Given the description of an element on the screen output the (x, y) to click on. 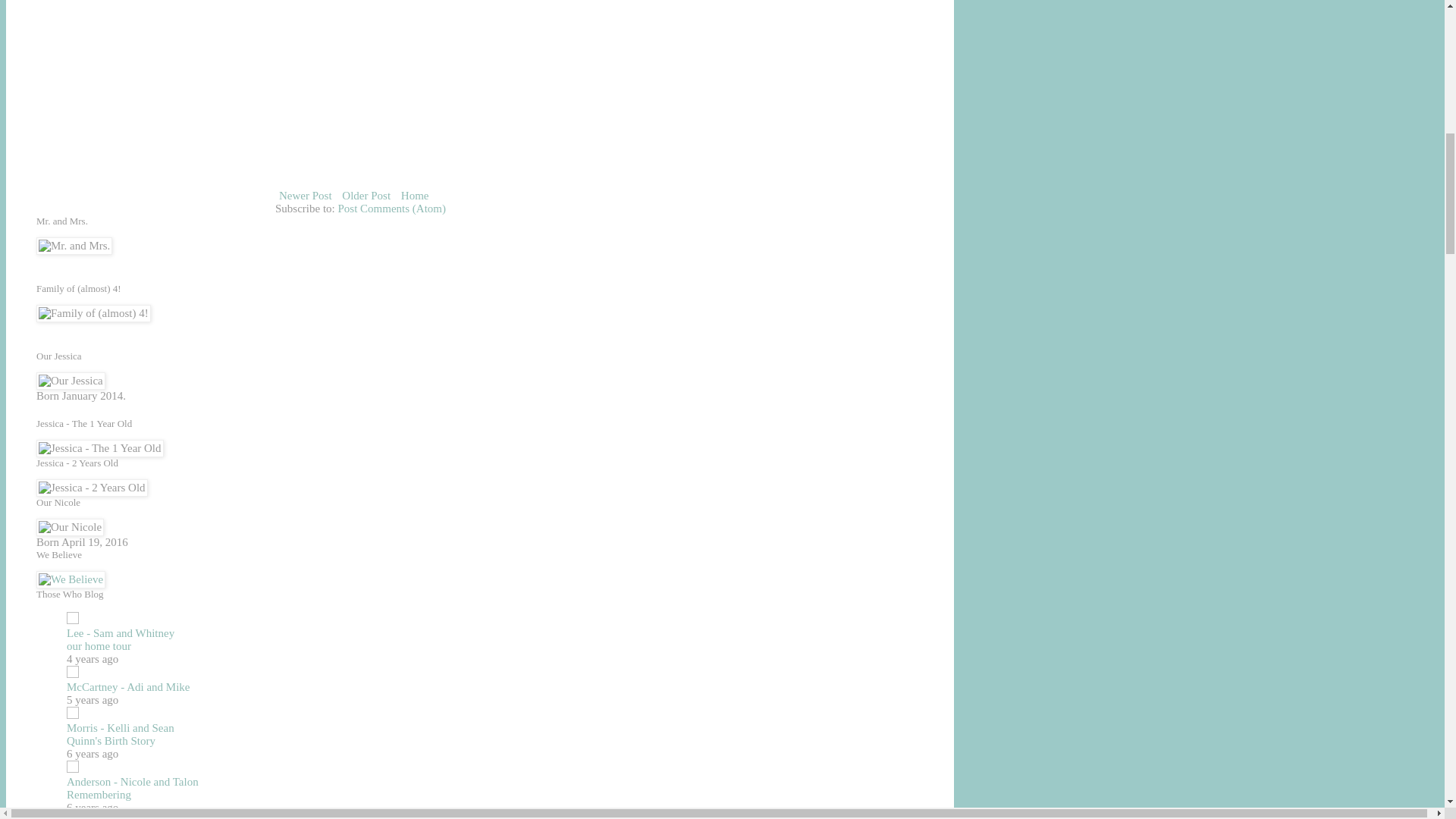
Home (414, 195)
McCartney - Adi and Mike (127, 686)
Older Post (365, 195)
Remembering (98, 794)
Quinn's Birth Story (110, 740)
Newer Post (305, 195)
Newer Post (305, 195)
our home tour (98, 645)
Morris - Kelli and Sean (120, 727)
Older Post (365, 195)
Lee - Sam and Whitney (120, 633)
Anderson - Nicole and Talon (132, 781)
